Given the description of an element on the screen output the (x, y) to click on. 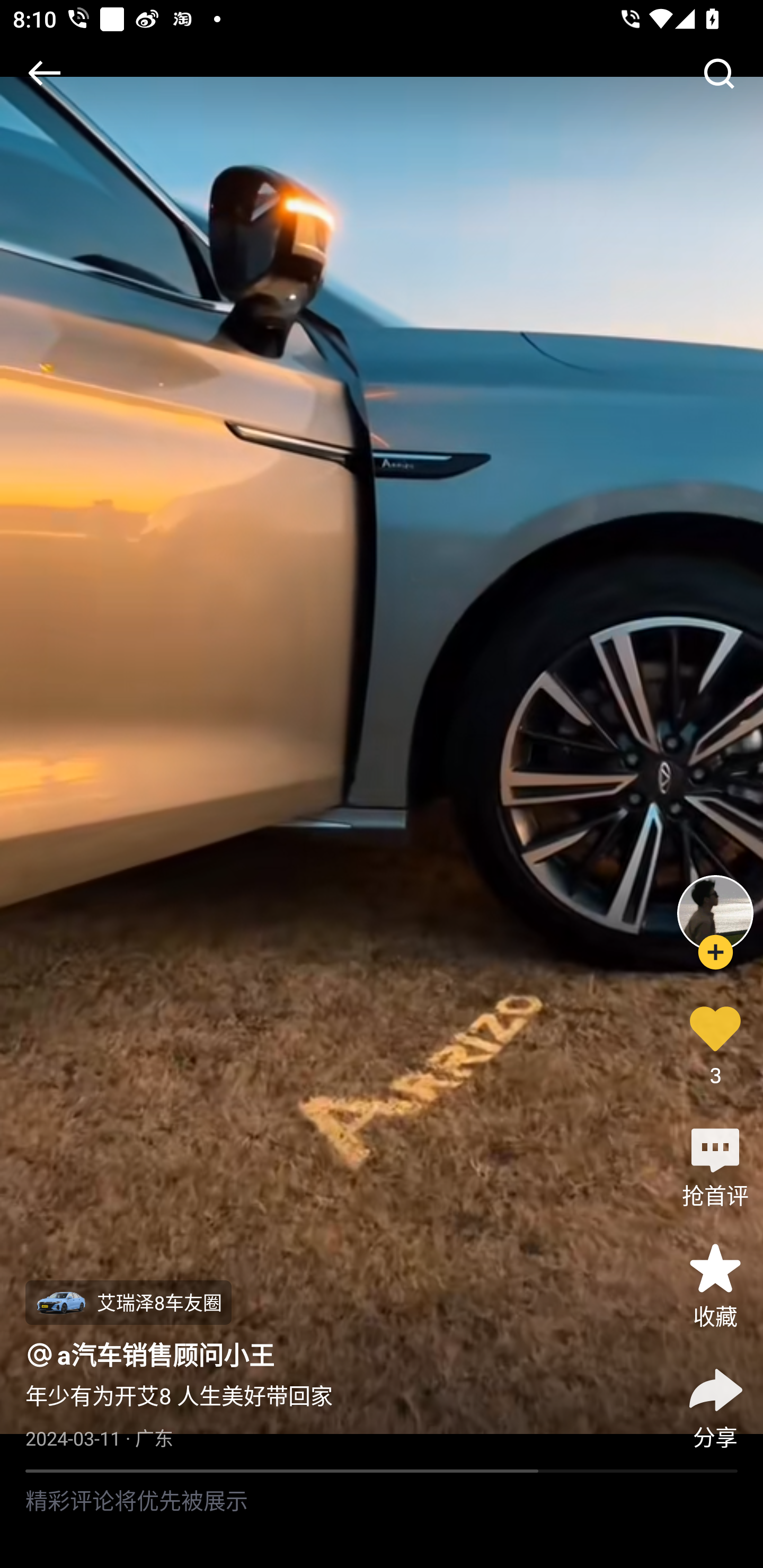
 (44, 72)
 (718, 72)
抢首评 (715, 1164)
收藏 (715, 1284)
艾瑞泽8车友圈 (128, 1302)
a汽车销售顾问小王 (165, 1354)
分享 (715, 1405)
年少有为开艾8 人生美好带回家 (178, 1395)
精彩评论将优先被展示 (381, 1520)
